Given the description of an element on the screen output the (x, y) to click on. 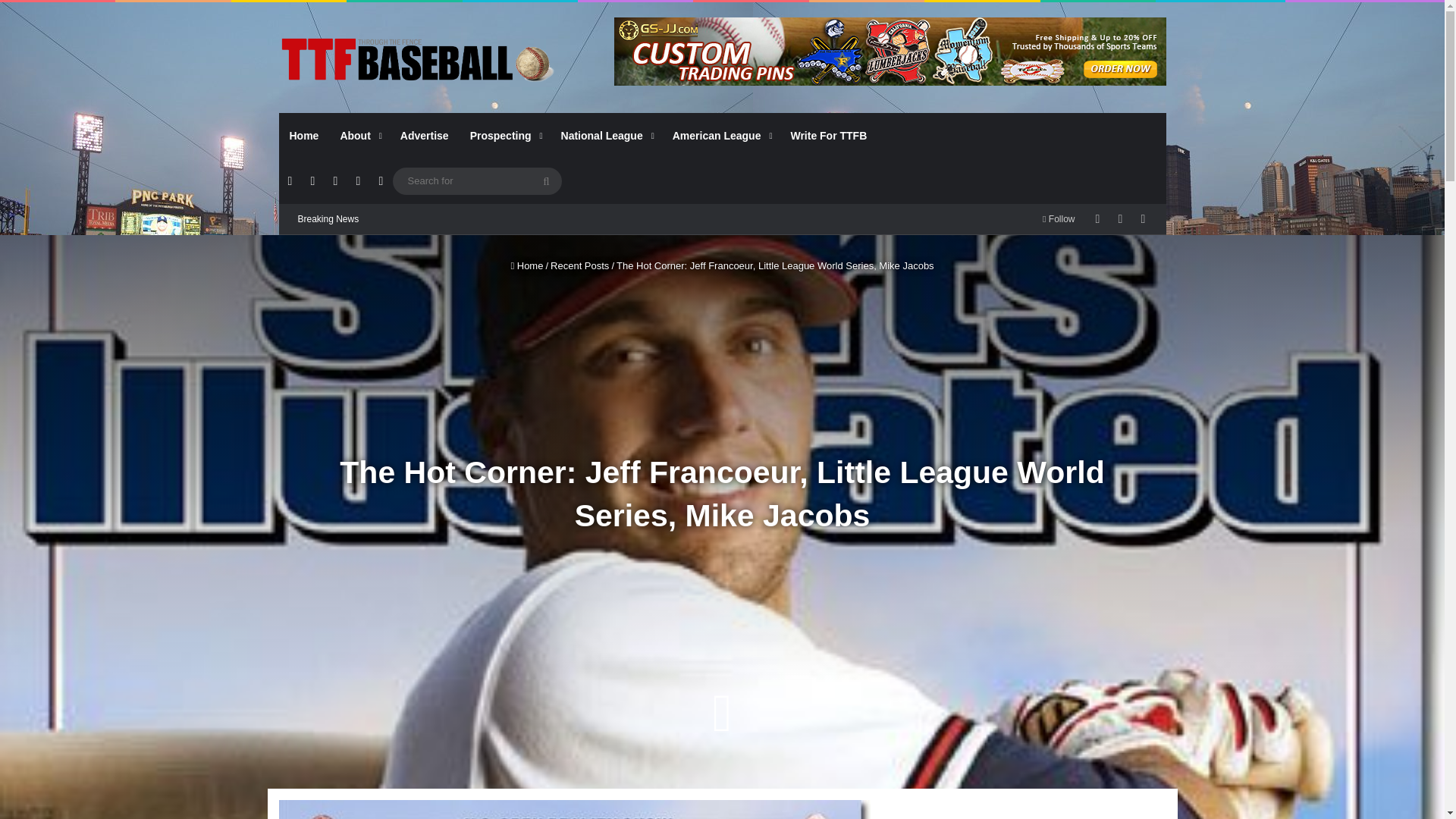
American League (721, 135)
Through The Fence Baseball (419, 58)
Prospecting (505, 135)
Home (304, 135)
Advertise (425, 135)
Search for (477, 180)
National League (606, 135)
About (358, 135)
